Given the description of an element on the screen output the (x, y) to click on. 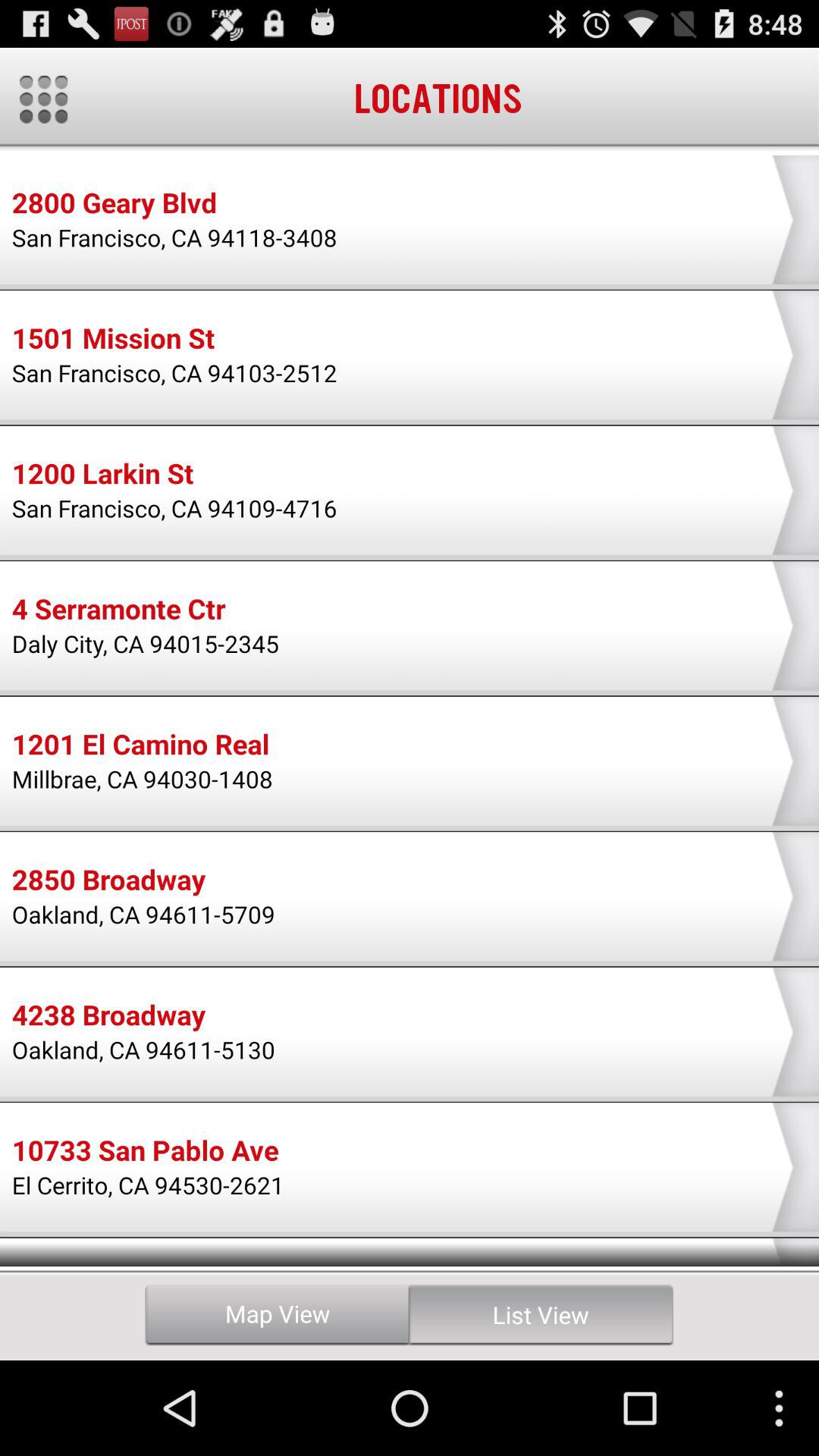
main menu (43, 99)
